Given the description of an element on the screen output the (x, y) to click on. 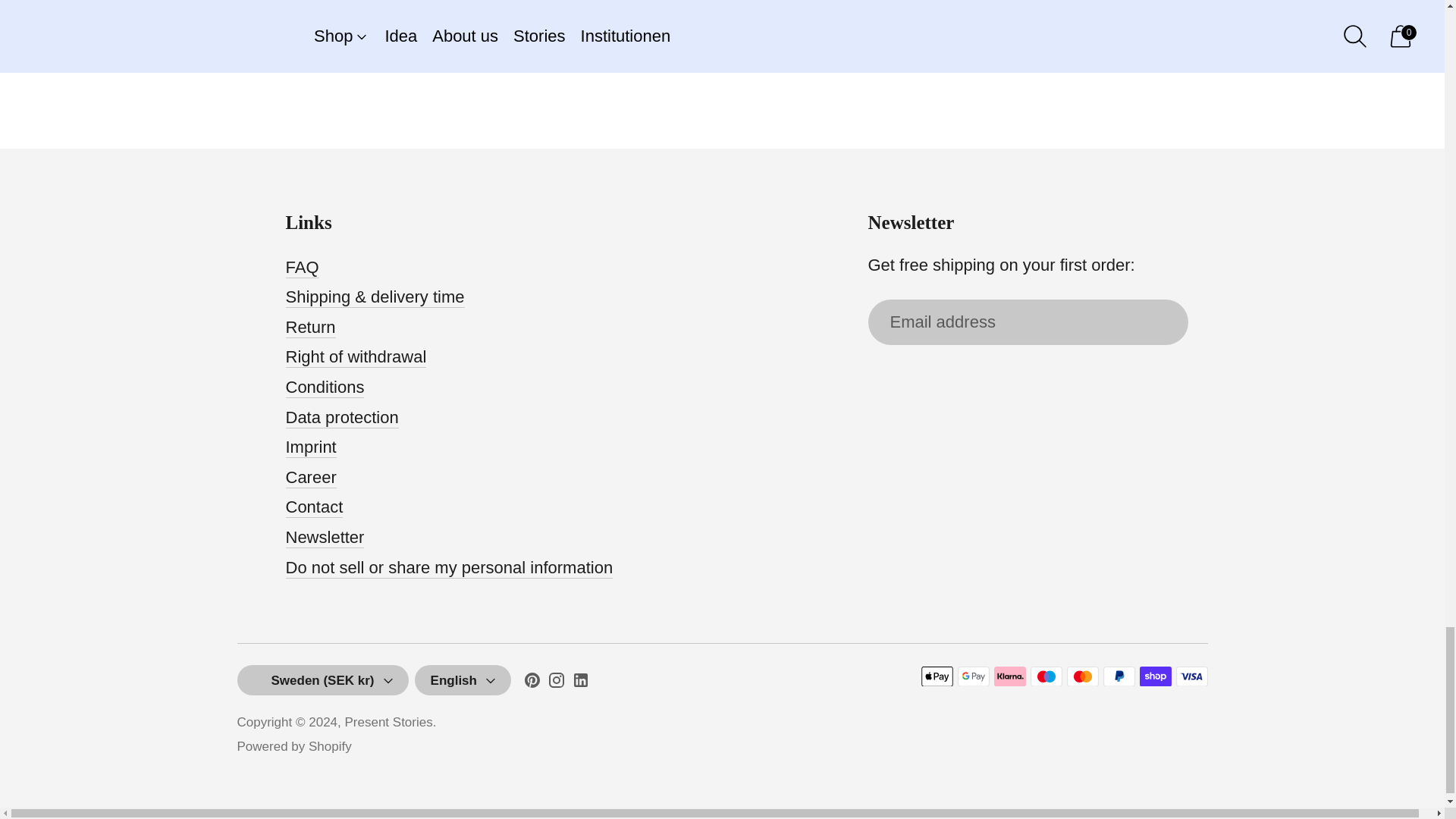
Apple Pay (936, 676)
Google Pay (972, 676)
Klarna (1008, 676)
PayPal (1118, 676)
Shop Pay (1154, 676)
Visa (1190, 676)
Mastercard (1081, 676)
Maestro (1045, 676)
